Given the description of an element on the screen output the (x, y) to click on. 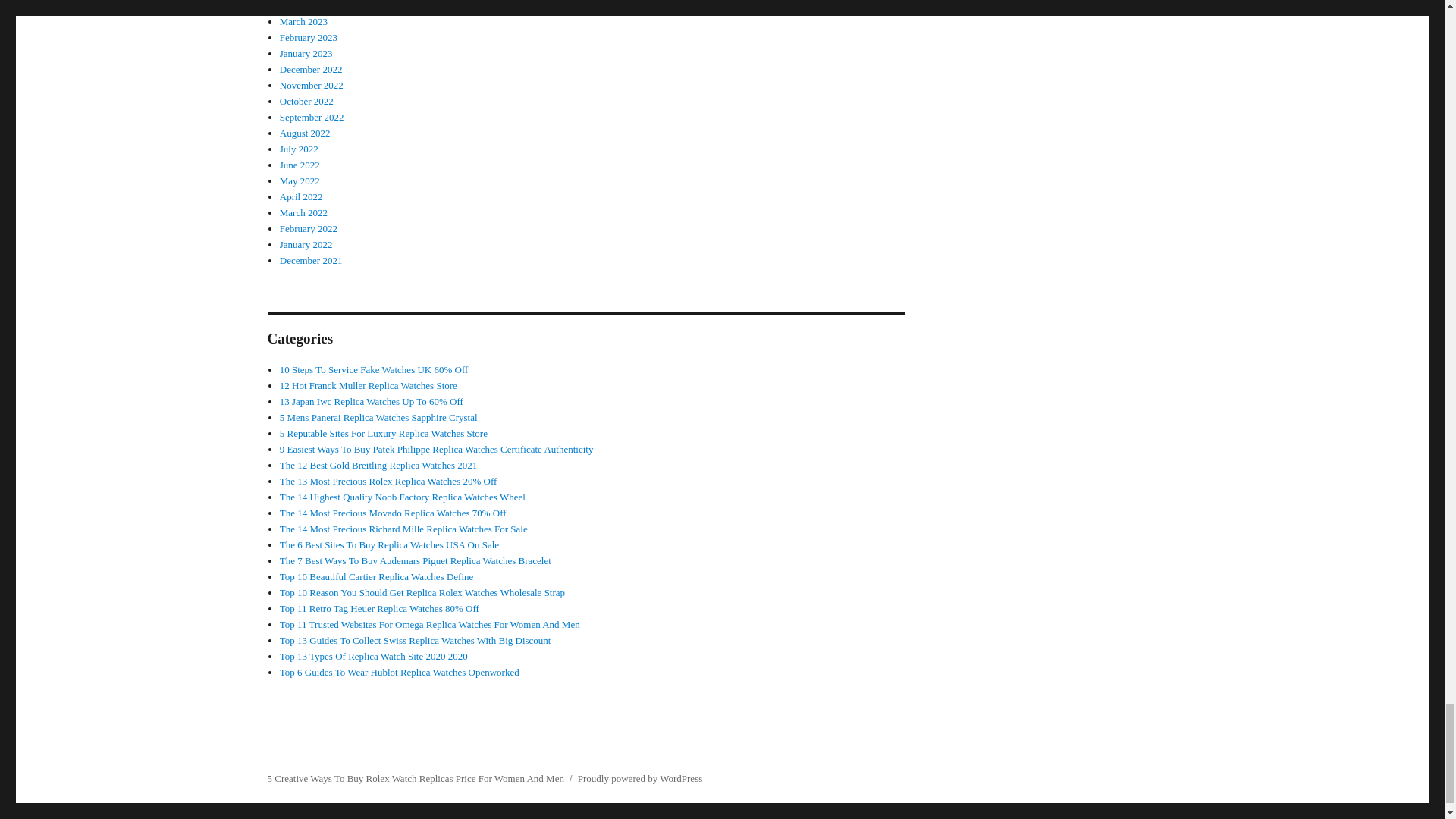
November 2022 (311, 84)
December 2022 (310, 69)
March 2023 (303, 21)
February 2023 (308, 37)
October 2022 (306, 101)
September 2022 (311, 116)
April 2023 (301, 5)
January 2023 (306, 52)
